Given the description of an element on the screen output the (x, y) to click on. 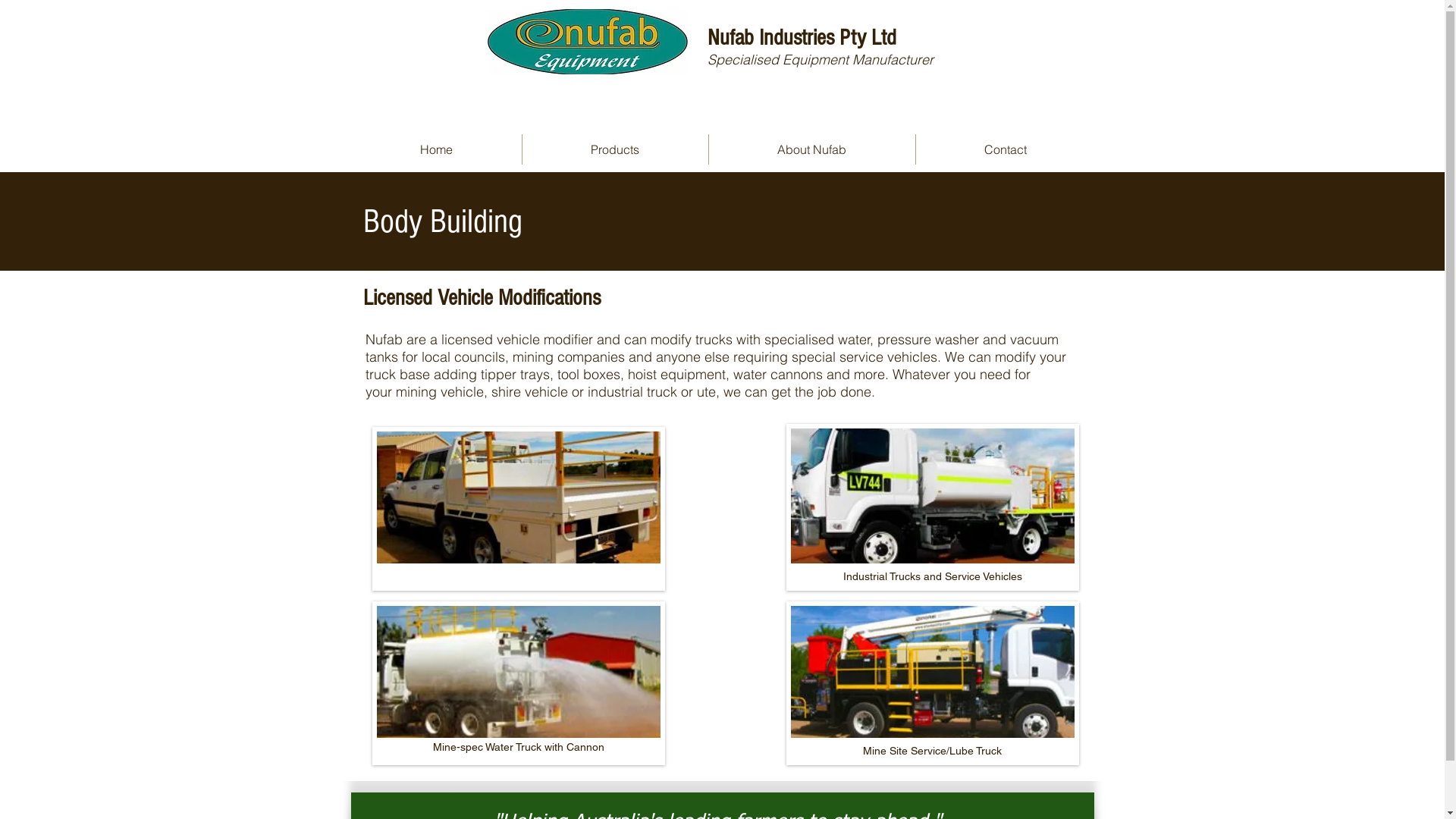
Nufab Industries Pty Ltd Element type: text (800, 37)
Products Element type: text (614, 149)
Home Element type: text (436, 149)
About Nufab Element type: text (811, 149)
Contact Element type: text (1005, 149)
